Given the description of an element on the screen output the (x, y) to click on. 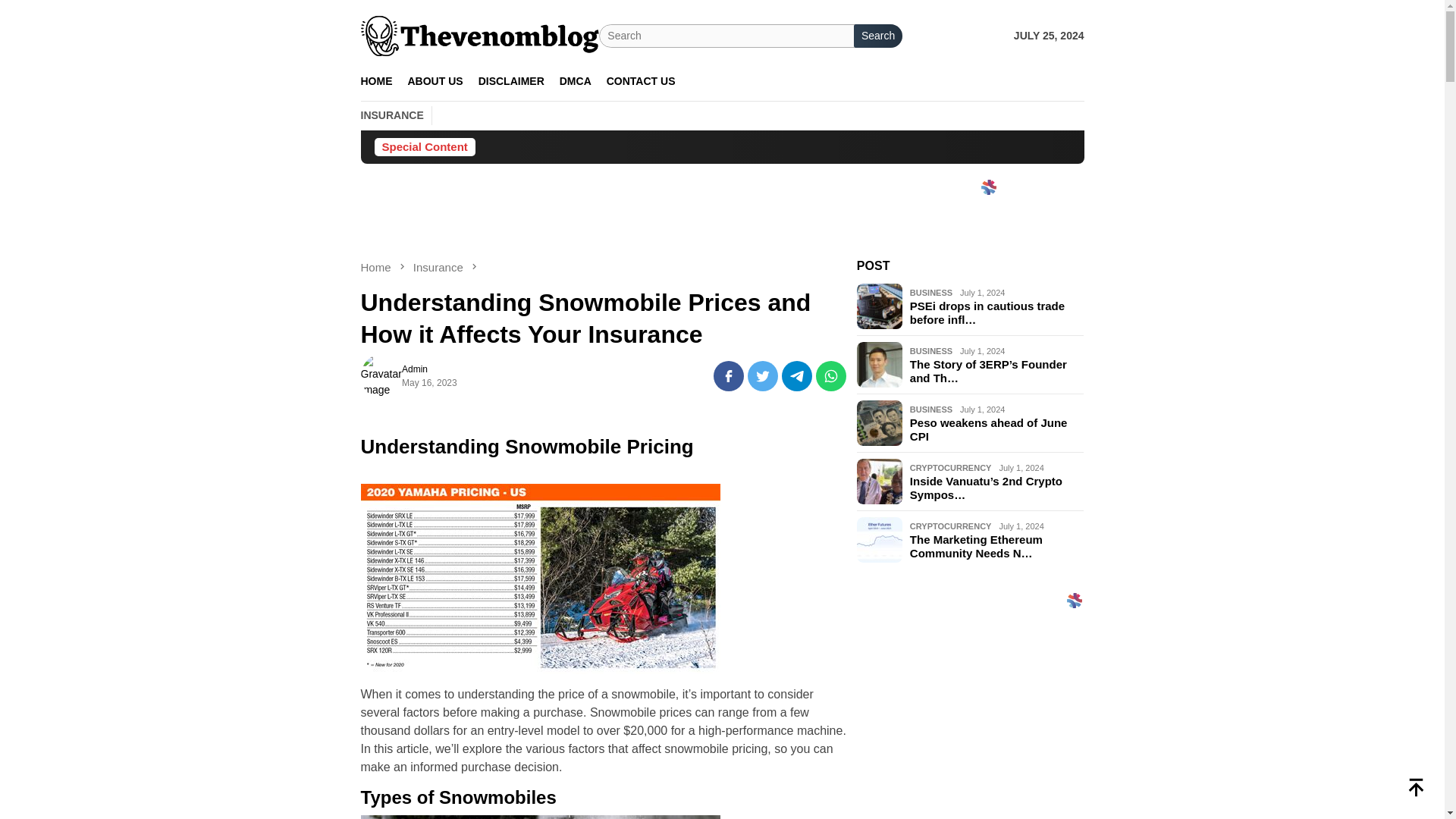
Tweet this (762, 376)
Permalink to: admin (381, 375)
WhatsApp this (830, 376)
Admin (414, 368)
Search (877, 35)
Gravatar (381, 375)
DISCLAIMER (510, 81)
Telegram Share (796, 376)
Home (377, 267)
HOME (376, 81)
ABOUT US (435, 81)
3rd party ad content (721, 234)
DMCA (574, 81)
Share this (728, 376)
INSURANCE (392, 115)
